Given the description of an element on the screen output the (x, y) to click on. 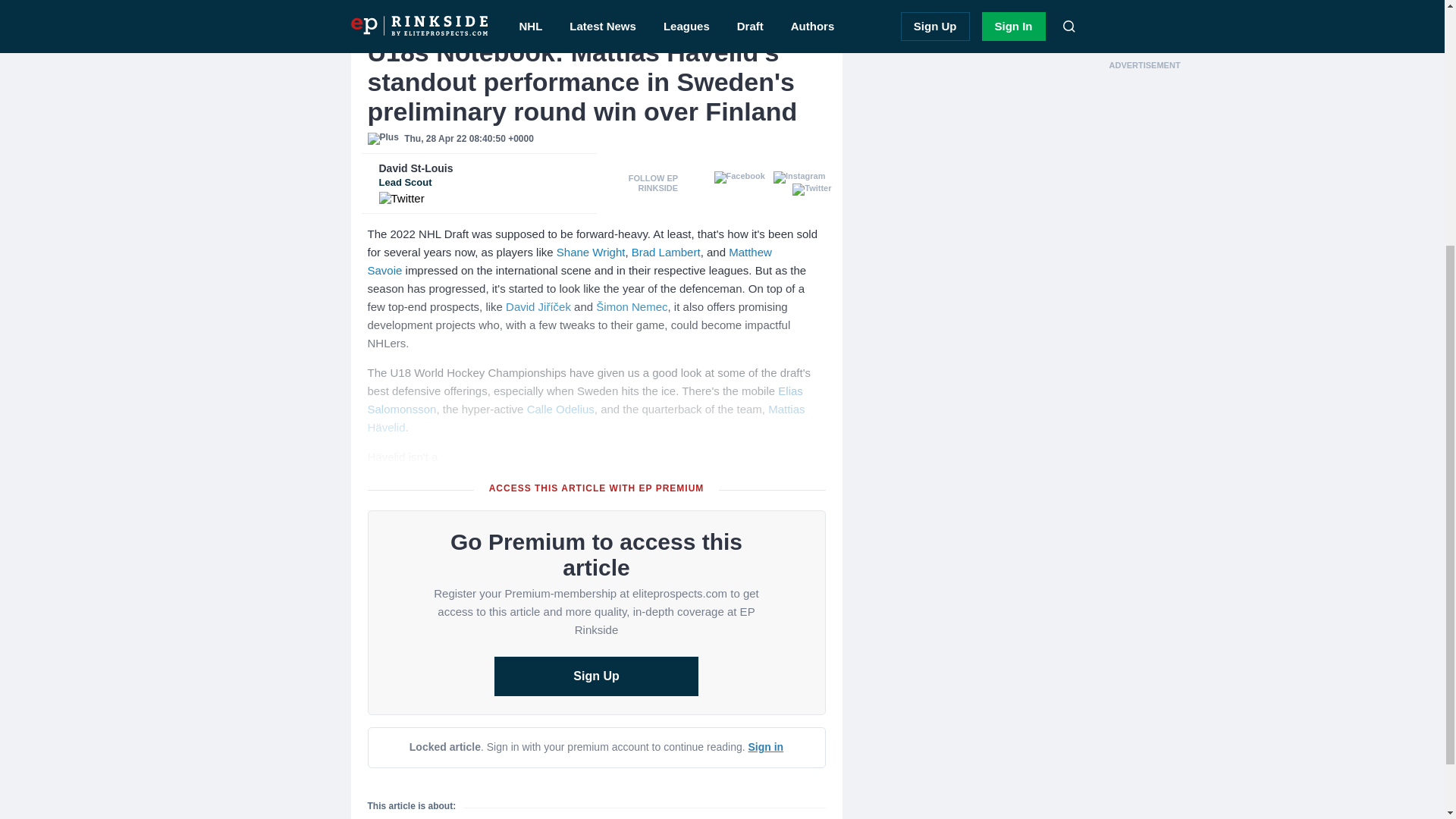
Brad Lambert (665, 251)
Shane Wright (591, 251)
2022 U18 WORLD HOCKEY CHAMPIONSHIP (489, 19)
Matthew Savoie (484, 175)
Twitter (568, 260)
